Given the description of an element on the screen output the (x, y) to click on. 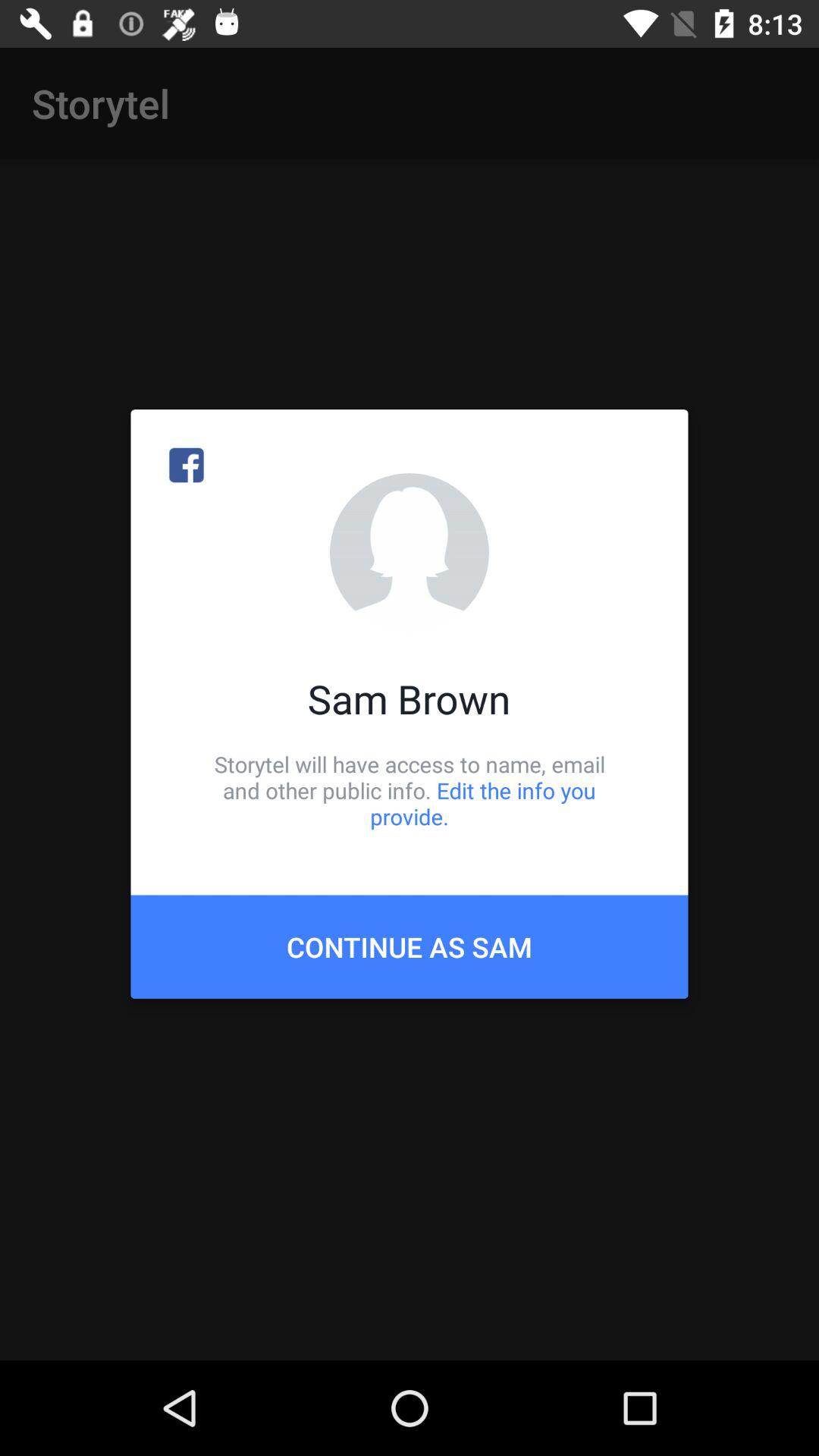
turn off storytel will have (409, 790)
